Given the description of an element on the screen output the (x, y) to click on. 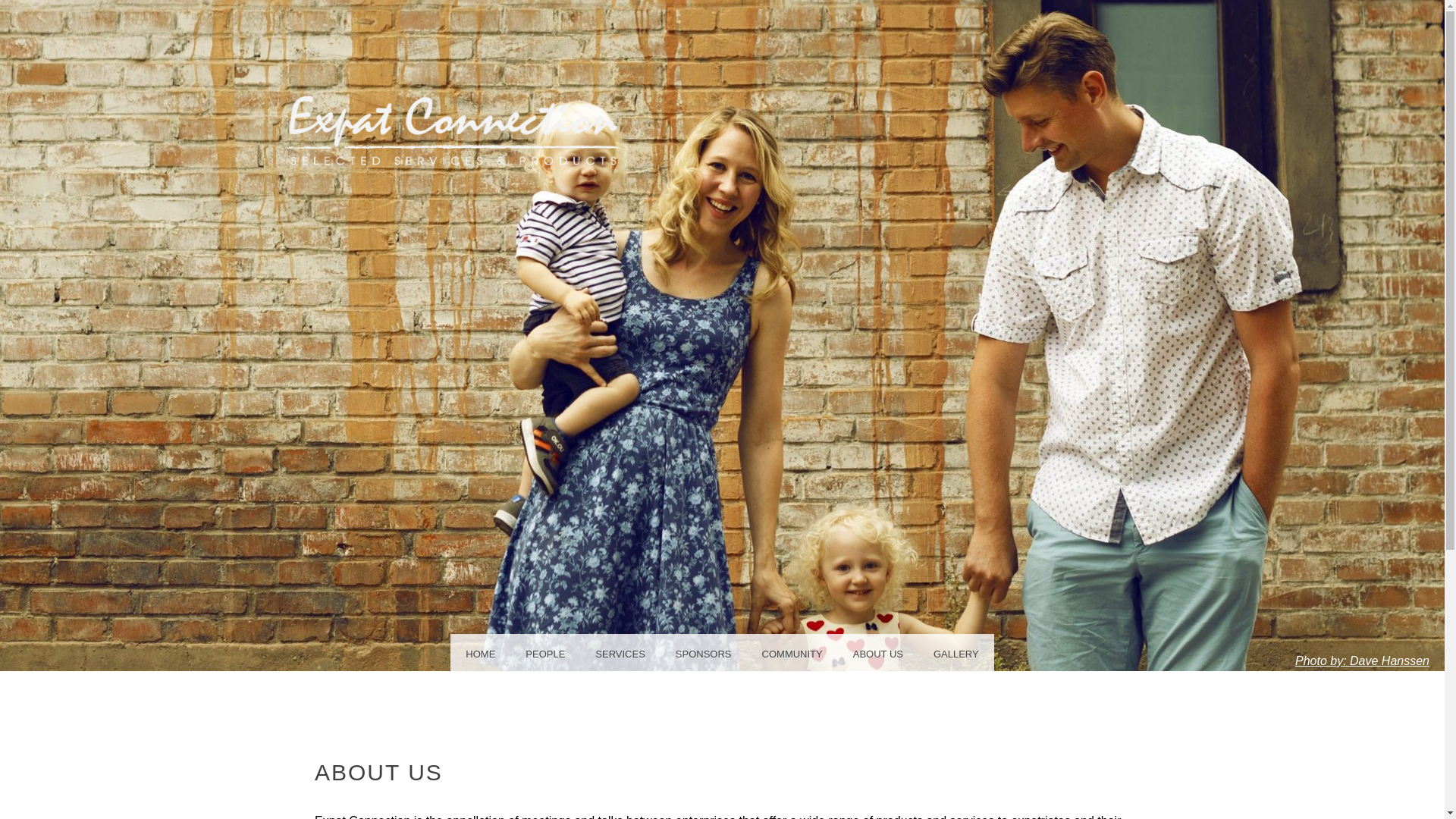
PEOPLE (545, 651)
Photo by: Dave Hanssen (1362, 660)
SPONSORS (703, 651)
COMMUNITY (792, 651)
Skip to content (59, 651)
HOME (480, 651)
SERVICES (620, 651)
SKIP TO CONTENT (59, 651)
ABOUT US (878, 651)
GALLERY (956, 651)
